Given the description of an element on the screen output the (x, y) to click on. 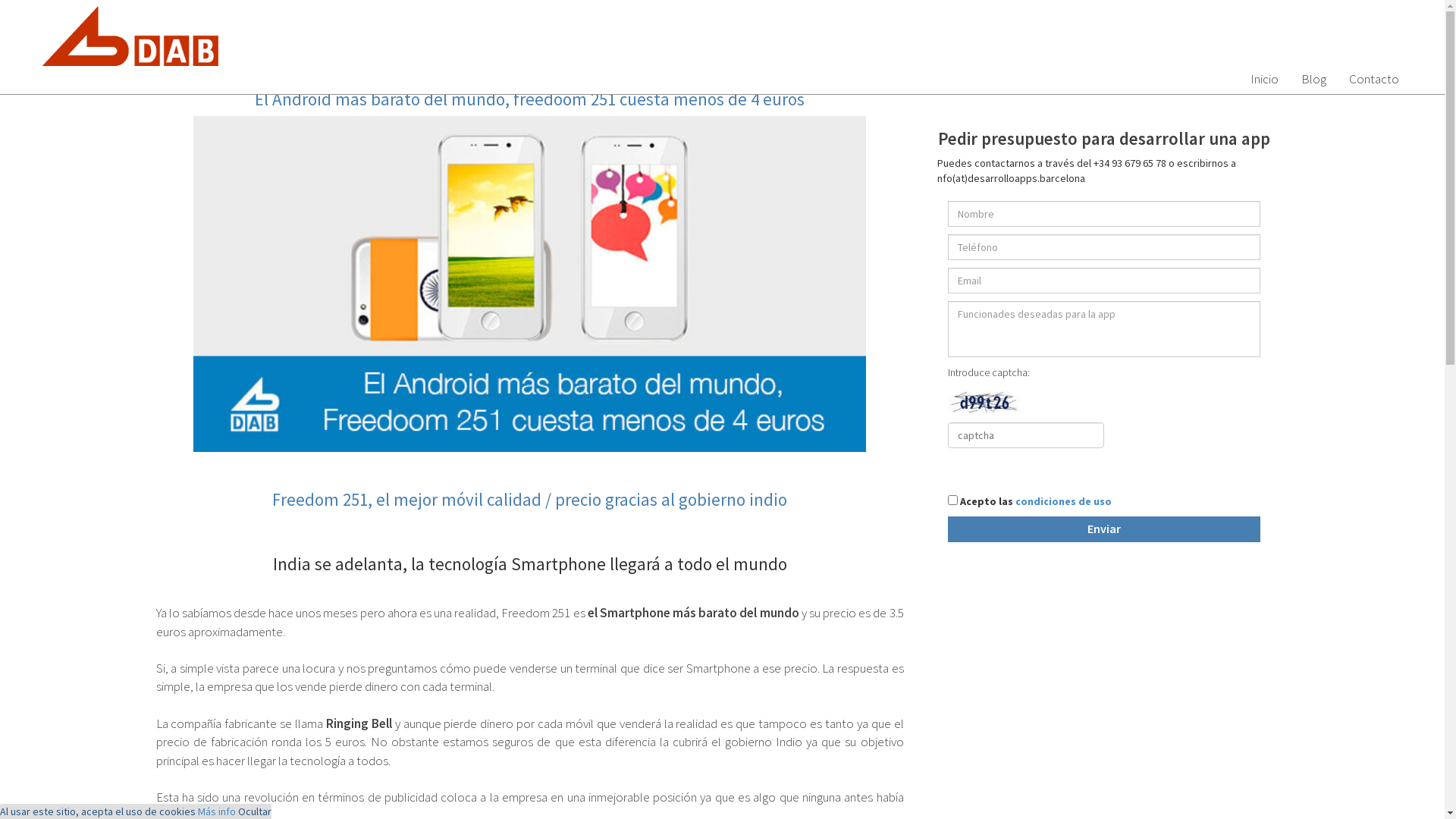
Enviar Element type: text (1104, 529)
Inicio Element type: text (1264, 78)
condiciones de uso Element type: text (1062, 501)
Contacto Element type: text (1373, 78)
Blog Element type: text (1313, 78)
